Given the description of an element on the screen output the (x, y) to click on. 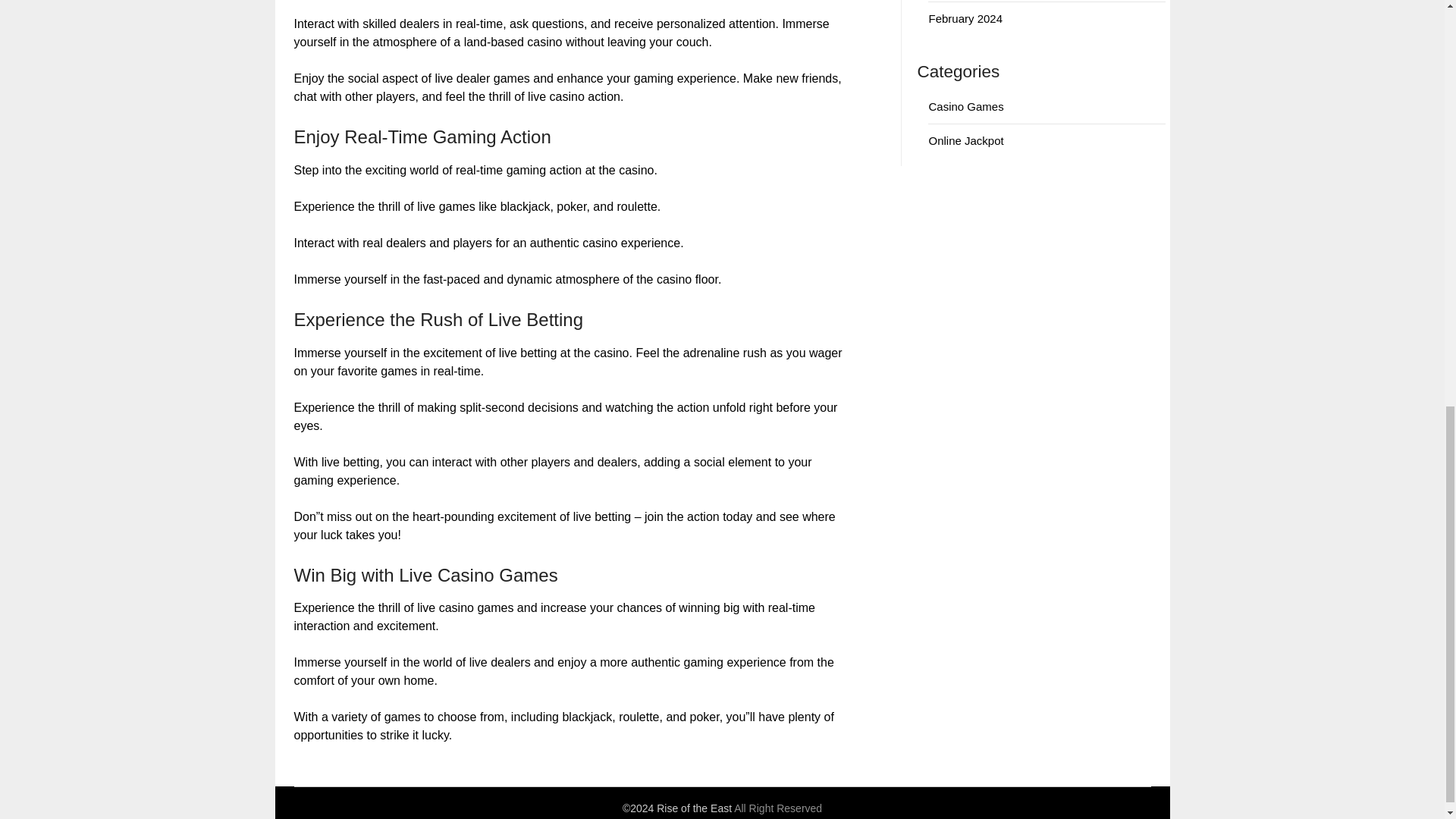
Casino Games (965, 106)
All Right Reserved (777, 808)
Online Jackpot (965, 140)
February 2024 (965, 18)
